Given the description of an element on the screen output the (x, y) to click on. 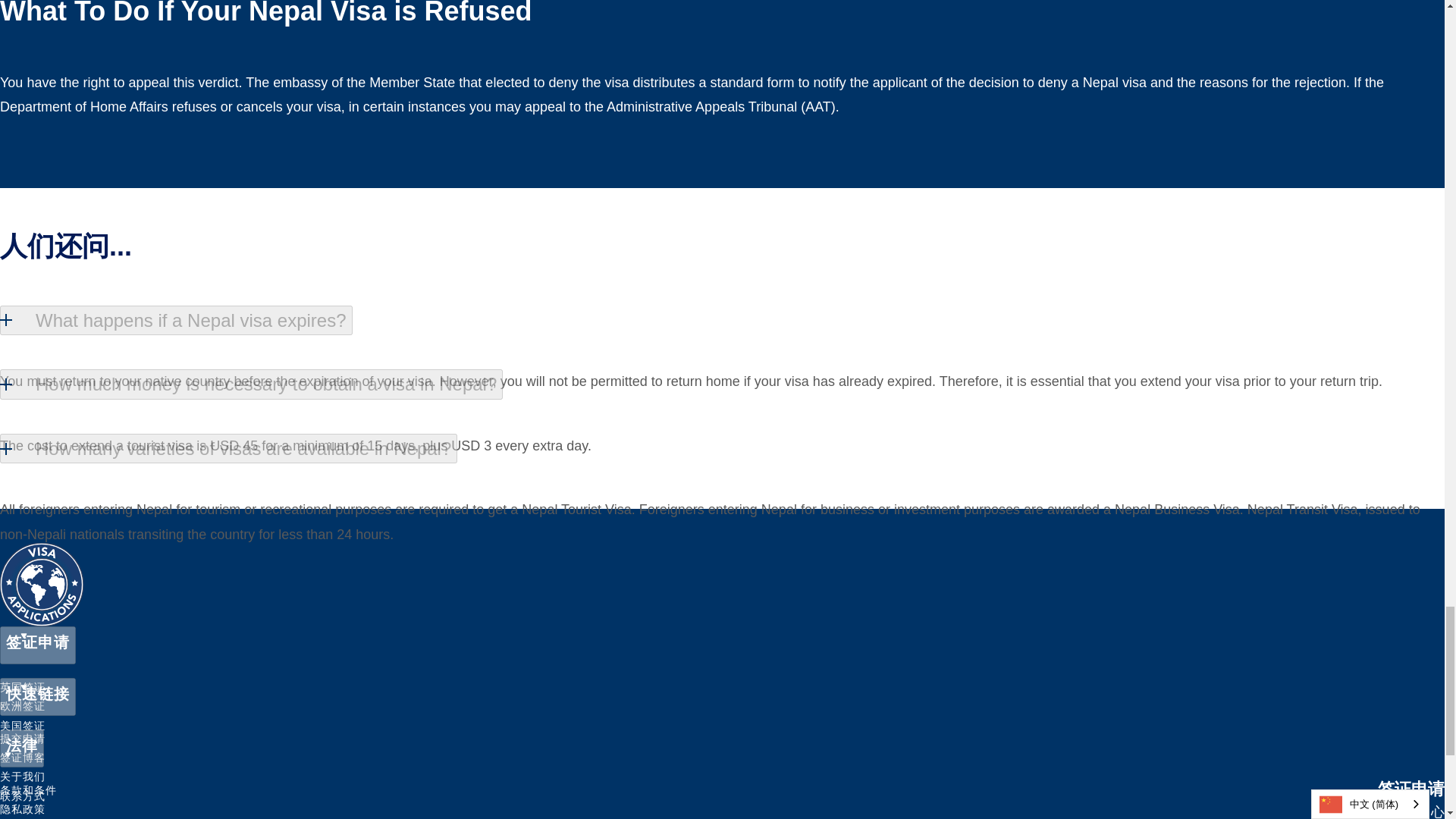
How much money is necessary to obtain a visa in Nepal? (251, 384)
How many varieties of visas are available in Nepal? (228, 449)
What happens if a Nepal visa expires? (176, 320)
